Given the description of an element on the screen output the (x, y) to click on. 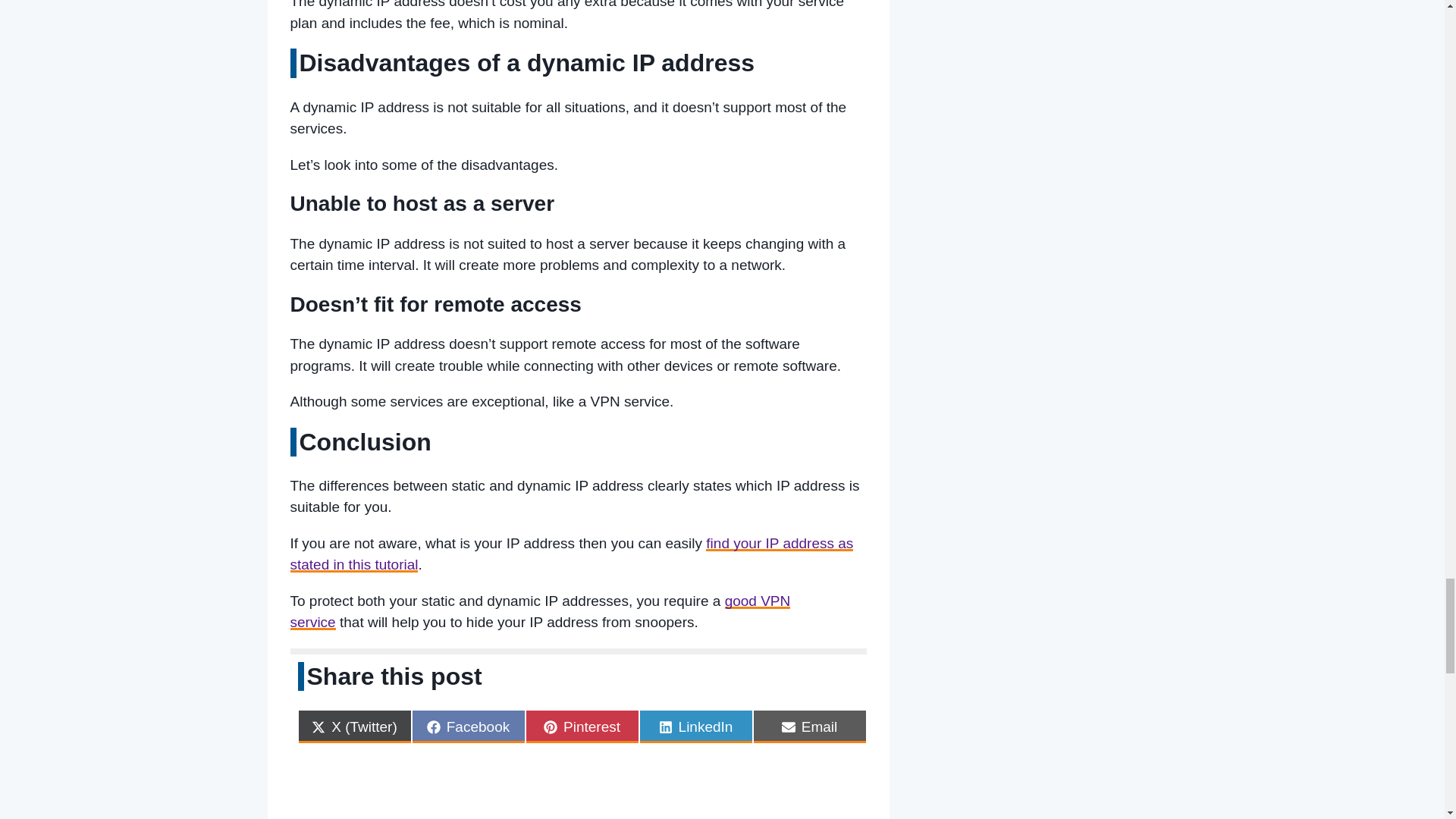
good VPN service (539, 611)
NordVPN (539, 611)
find your IP address as stated in this tutorial (571, 554)
